Given the description of an element on the screen output the (x, y) to click on. 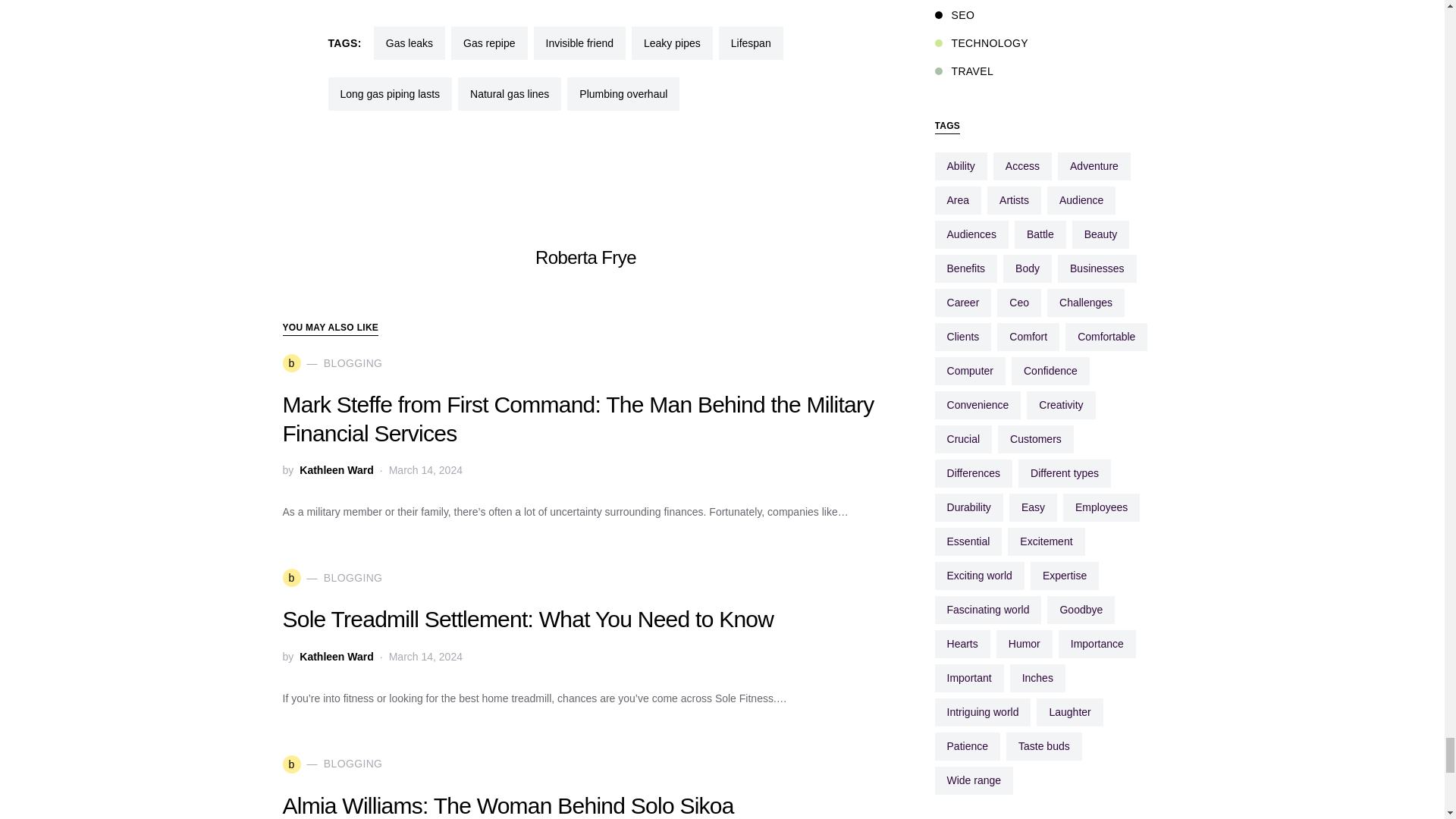
View all posts by Kathleen Ward (336, 656)
View all posts by Kathleen Ward (336, 469)
